Given the description of an element on the screen output the (x, y) to click on. 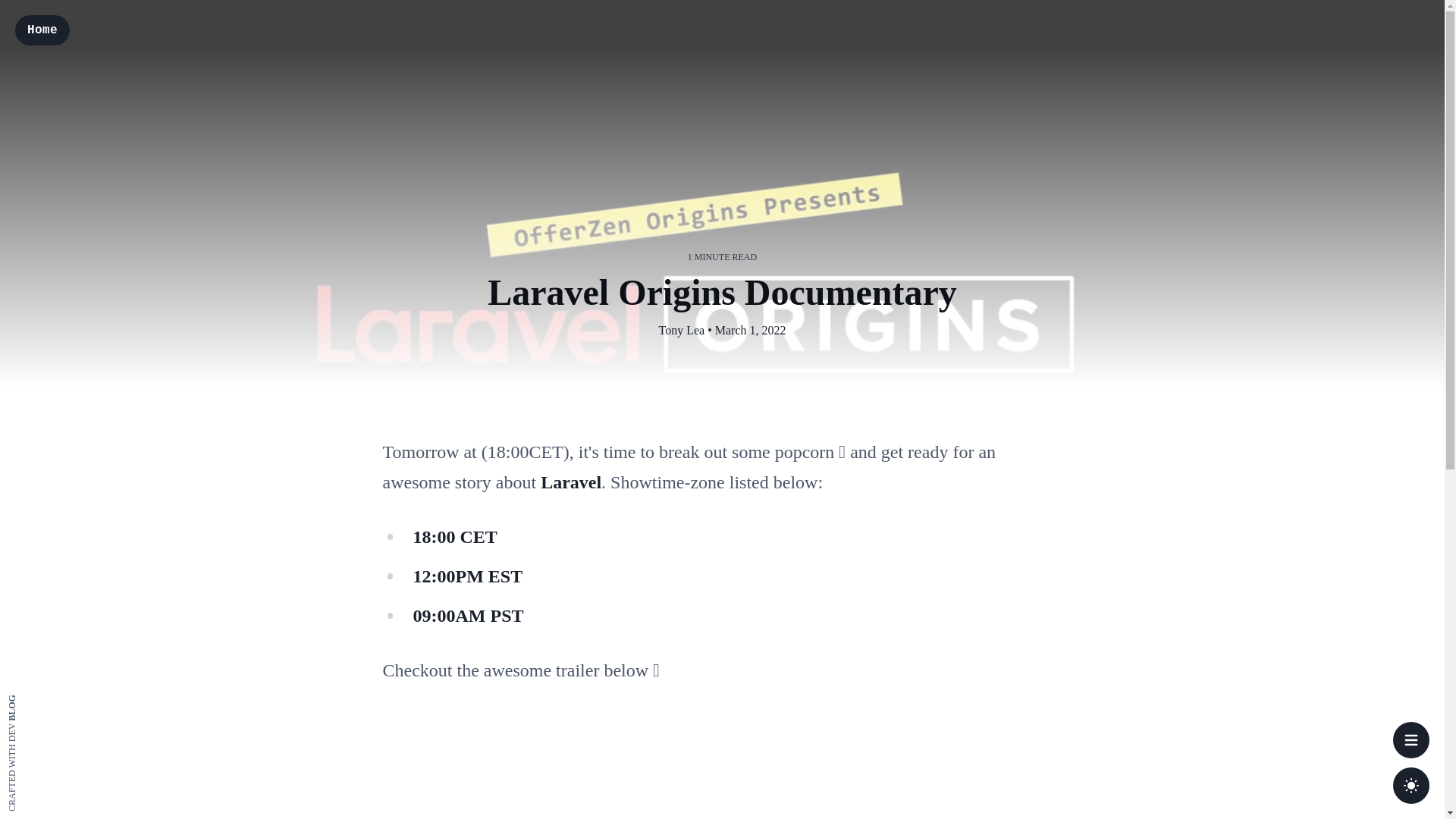
Home (41, 30)
Tony Lea (681, 330)
CRAFTED WITH DEV BLOG (65, 698)
